Given the description of an element on the screen output the (x, y) to click on. 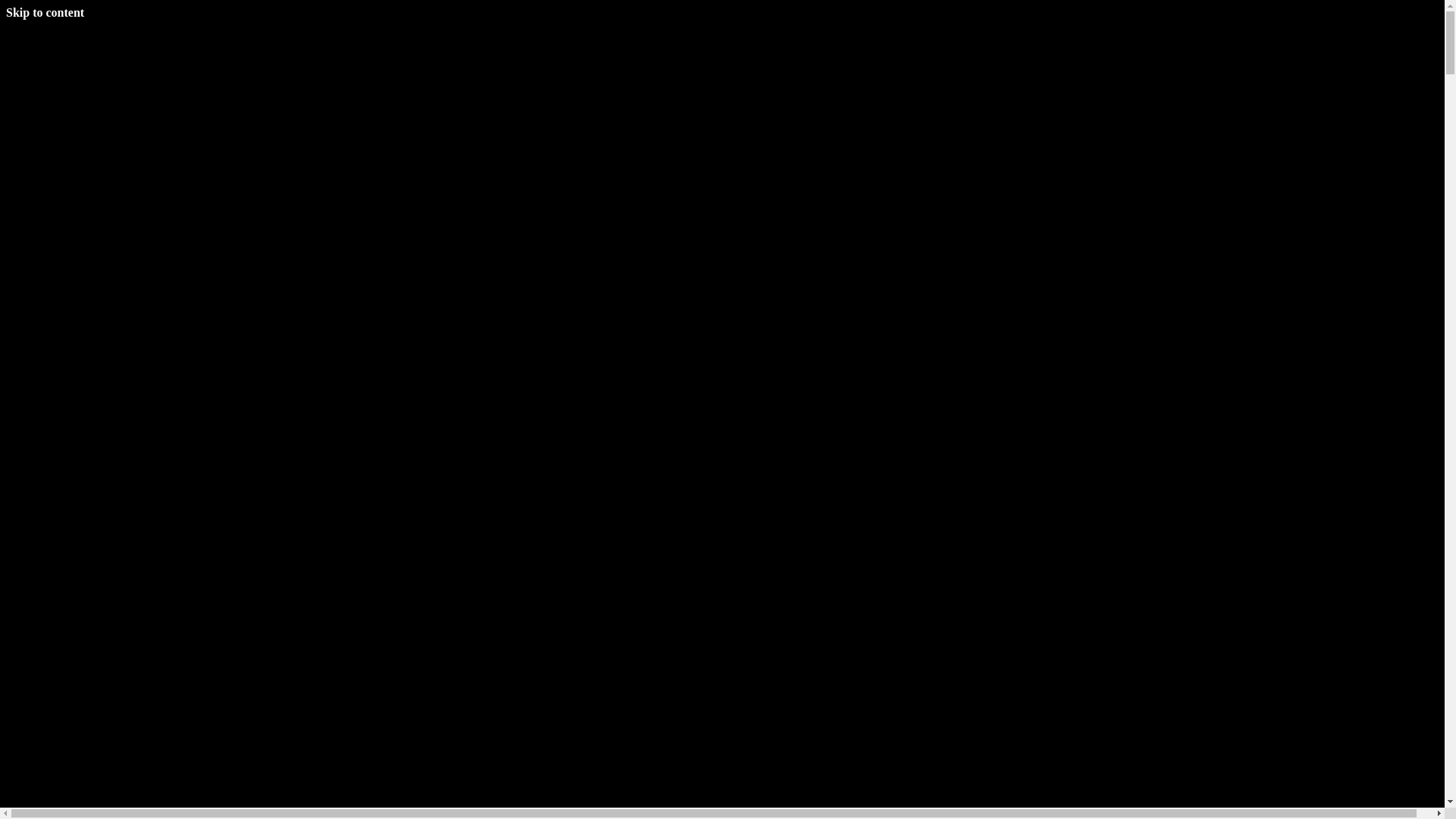
Skip to content Element type: text (45, 12)
